Given the description of an element on the screen output the (x, y) to click on. 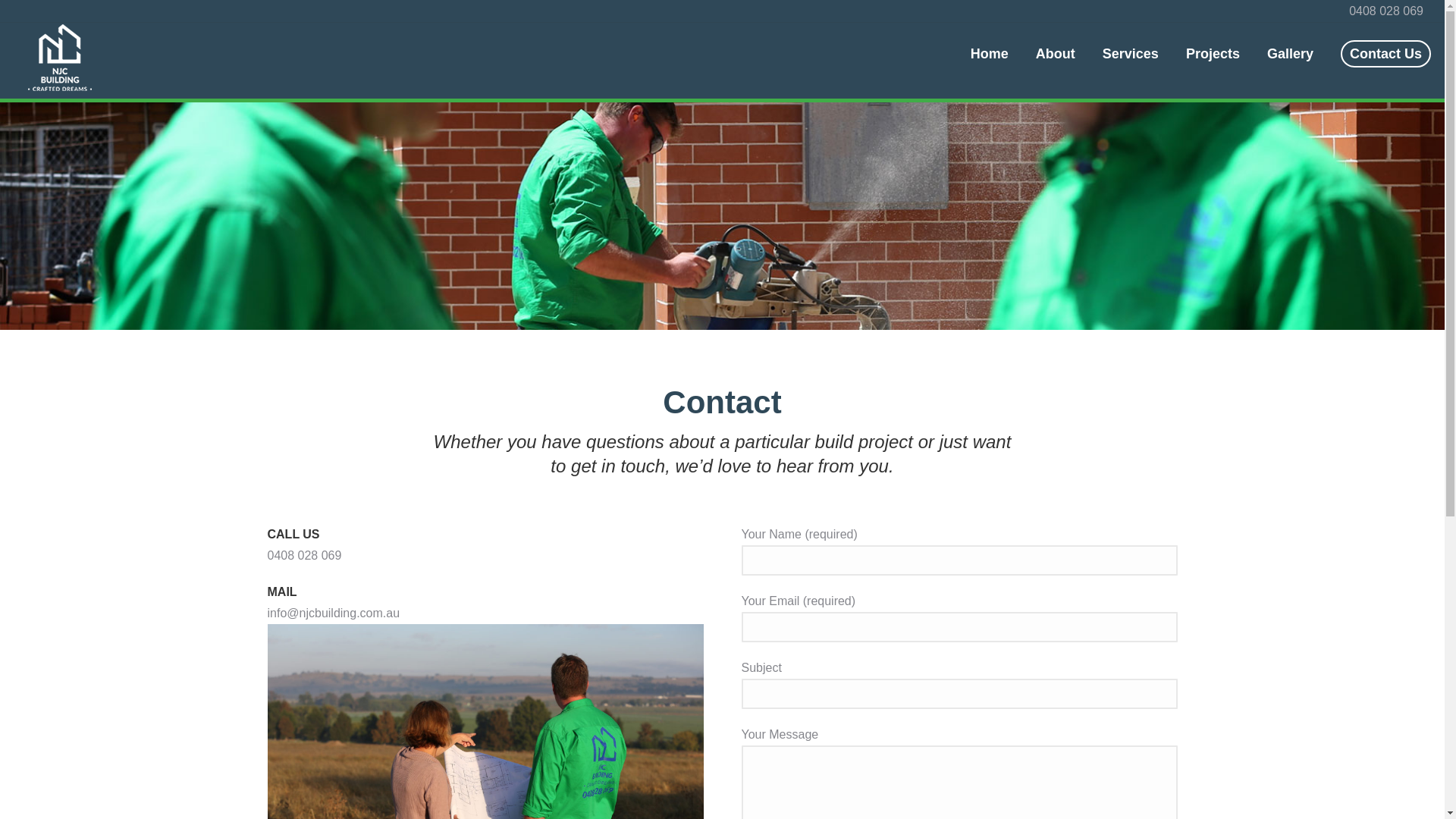
Contact Us Element type: text (1385, 53)
Services Element type: text (1130, 53)
Projects Element type: text (1212, 53)
About Element type: text (1055, 53)
Gallery Element type: text (1290, 53)
0408 028 069 Element type: text (1386, 10)
Home Element type: text (989, 53)
